Given the description of an element on the screen output the (x, y) to click on. 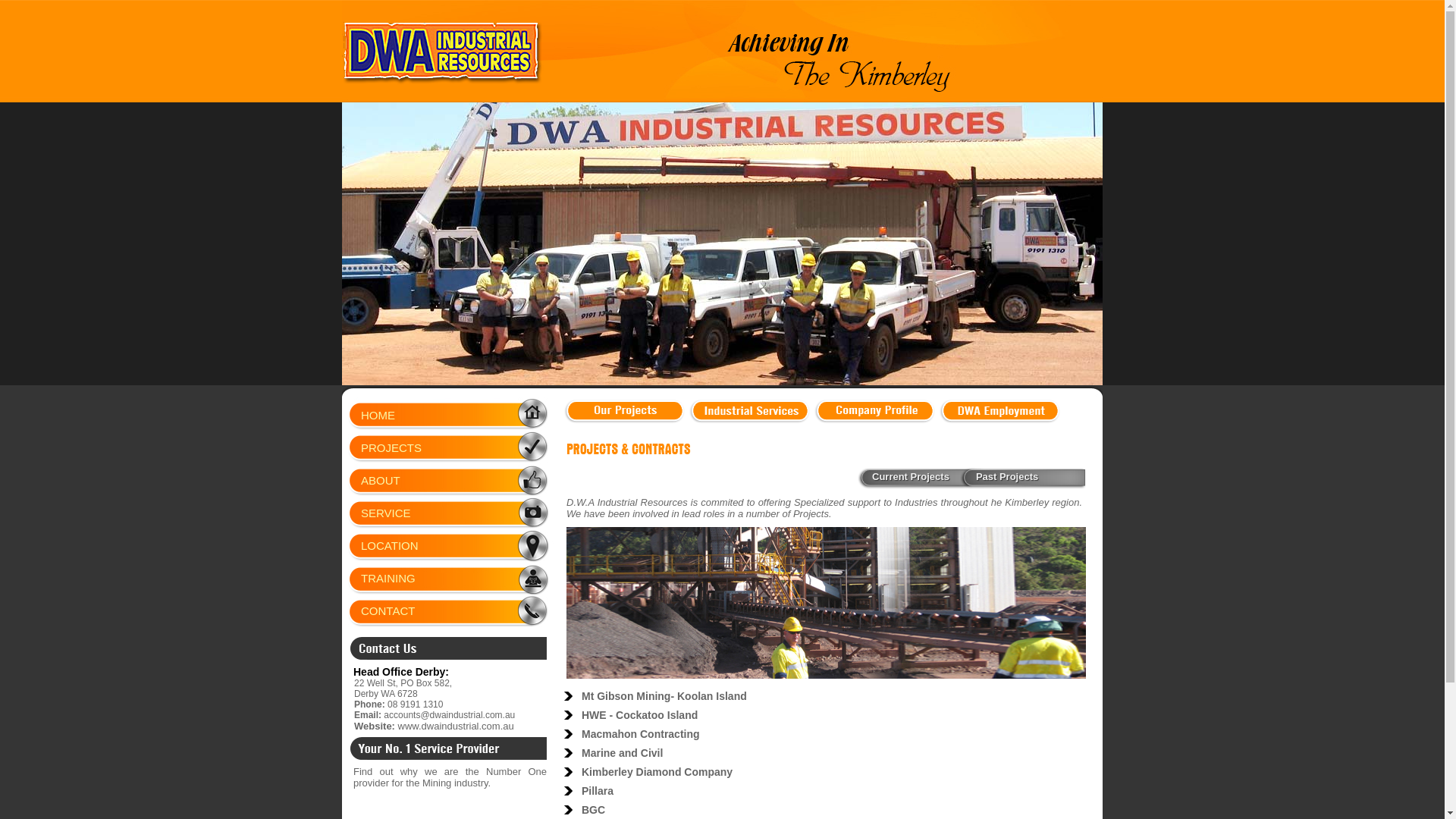
BGC Element type: text (593, 809)
accounts@dwaindustrial.com.au Element type: text (448, 714)
Pillara Element type: text (597, 790)
No.1 service provider Element type: hover (448, 748)
Marine and Civil Element type: text (621, 752)
HWE - Cockatoo Island Element type: text (639, 714)
PROJECTS Element type: text (467, 451)
Past Projects Element type: text (1006, 476)
HOME Element type: text (467, 418)
www.dwaindustrial.com.au Element type: text (456, 725)
Projects Element type: hover (625, 448)
TRAINING Element type: text (467, 581)
ABOUT Element type: text (467, 483)
CONTACT Element type: text (467, 614)
SERVICE Element type: text (467, 516)
Mt Gibson Mining- Koolan Island Element type: text (663, 696)
Macmahon Contracting Element type: text (640, 734)
contact Element type: hover (448, 648)
Kimberley Diamond Company Element type: text (656, 771)
LOCATION Element type: text (467, 549)
Current Projects Element type: text (910, 476)
